Given the description of an element on the screen output the (x, y) to click on. 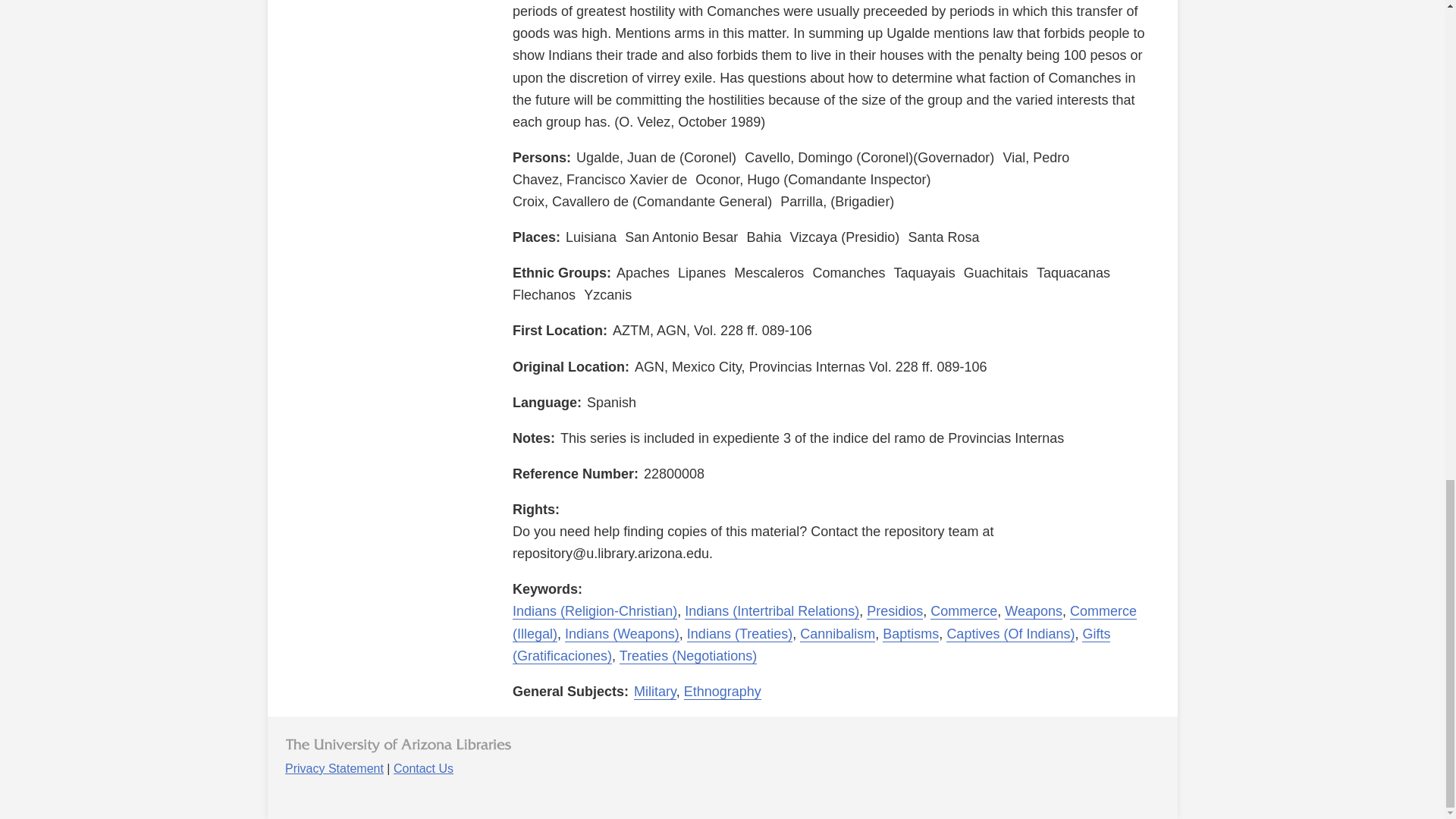
Privacy Statement (334, 768)
Commerce (963, 611)
Ethnography (722, 691)
Cannibalism (837, 634)
Baptisms (910, 634)
Weapons (1033, 611)
Contact Us (422, 768)
Presidios (894, 611)
Military (655, 691)
